Given the description of an element on the screen output the (x, y) to click on. 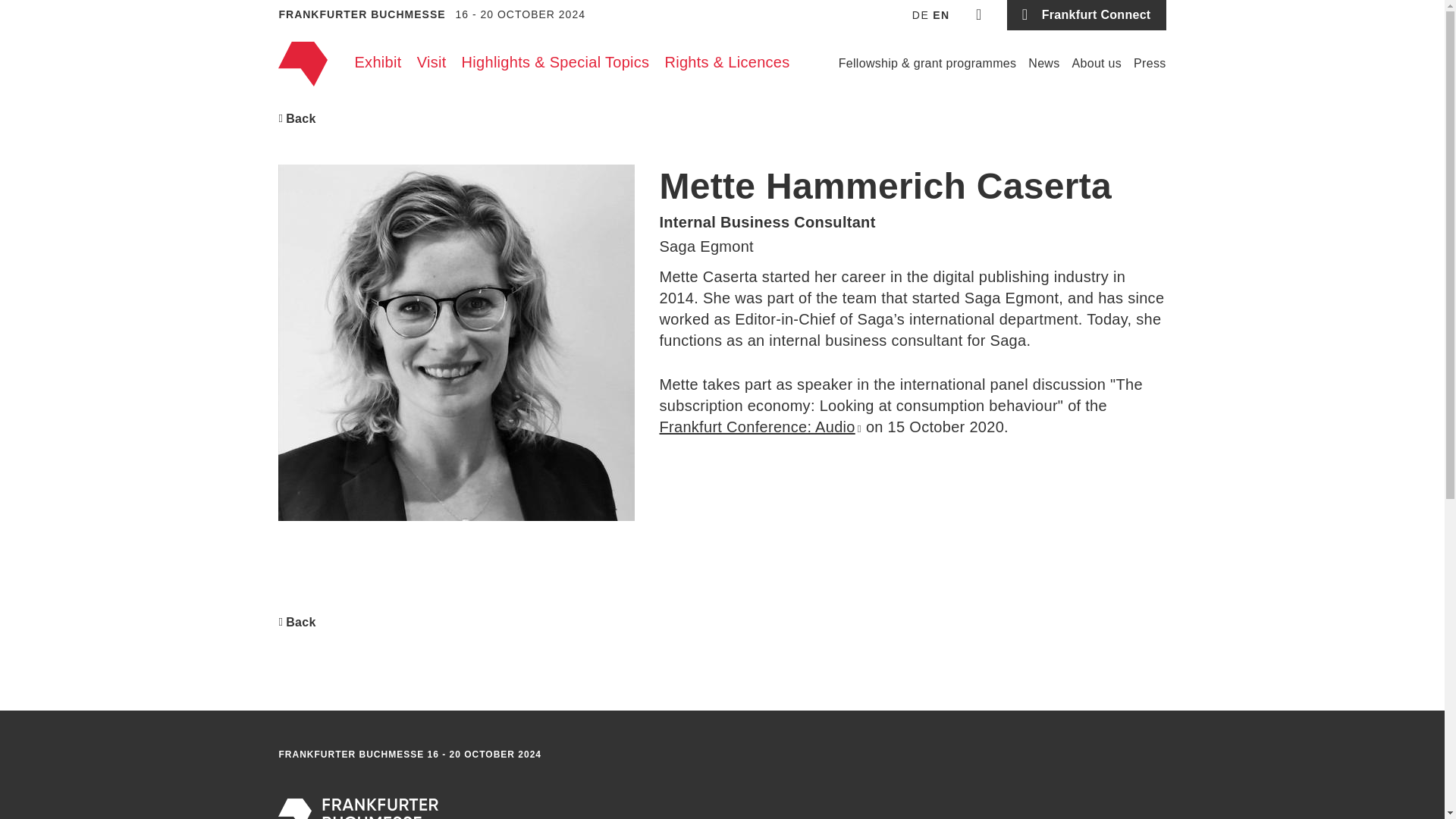
DE (920, 14)
Exhibit (377, 62)
Mette Hammerich Caserta (456, 342)
About us (1096, 63)
Back (296, 118)
Back (296, 621)
News (1043, 63)
Search (978, 15)
Press (1150, 63)
Visit (431, 62)
Skip to main content (721, 5)
EN (941, 14)
Frankfurt Connect (1086, 15)
Buchmesse (302, 63)
